Given the description of an element on the screen output the (x, y) to click on. 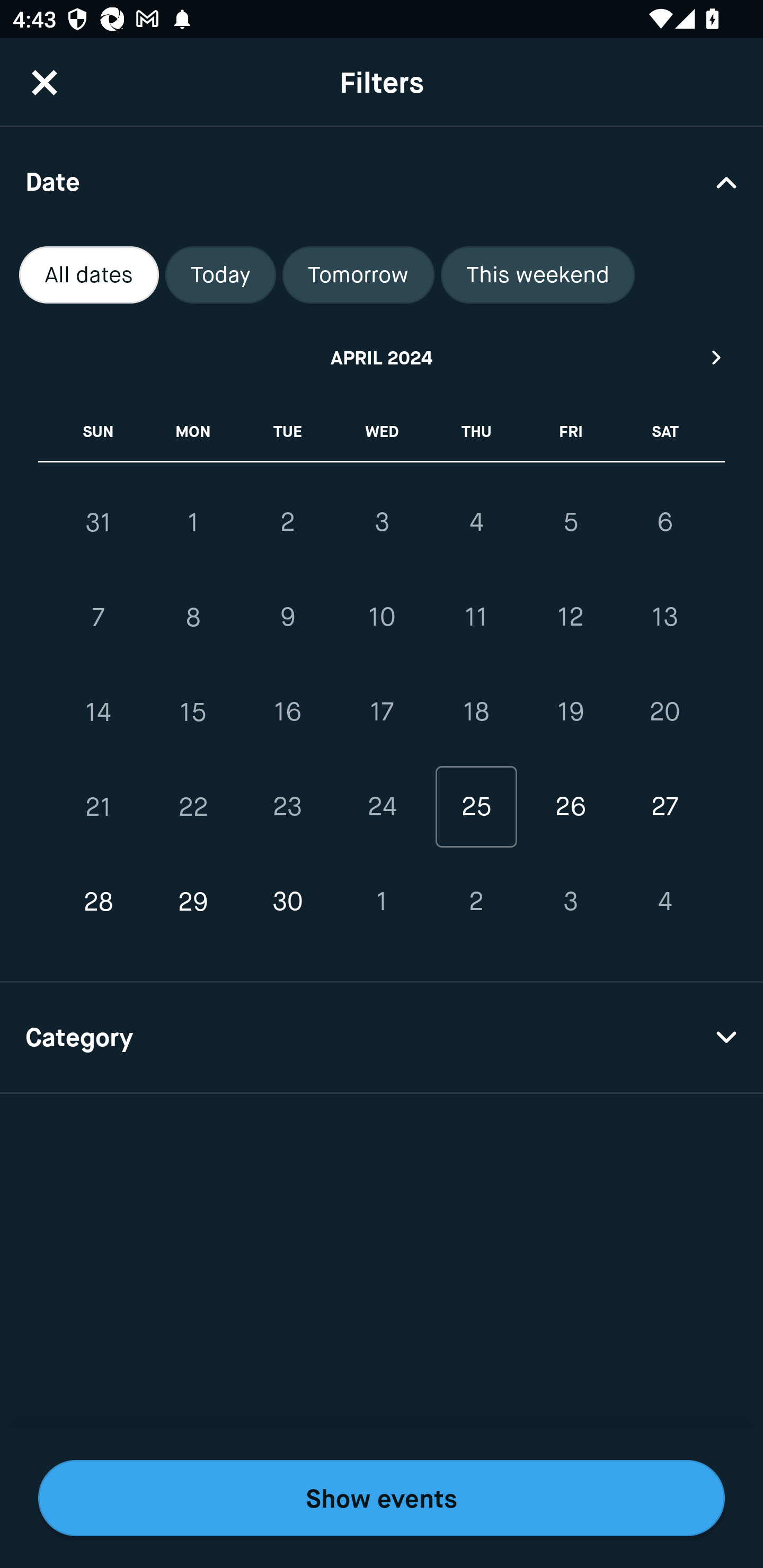
CloseButton (44, 82)
Date Drop Down Arrow (381, 181)
All dates (88, 274)
Today (220, 274)
Tomorrow (358, 274)
This weekend (537, 274)
Next (717, 357)
31 (98, 522)
1 (192, 522)
2 (287, 522)
3 (381, 522)
4 (475, 522)
5 (570, 522)
6 (664, 522)
7 (98, 617)
8 (192, 617)
9 (287, 617)
10 (381, 617)
11 (475, 617)
12 (570, 617)
13 (664, 617)
14 (98, 711)
15 (192, 711)
16 (287, 711)
17 (381, 711)
18 (475, 711)
19 (570, 711)
20 (664, 711)
21 (98, 806)
22 (192, 806)
23 (287, 806)
24 (381, 806)
25 (475, 806)
26 (570, 806)
27 (664, 806)
28 (98, 901)
29 (192, 901)
30 (287, 901)
1 (381, 901)
2 (475, 901)
3 (570, 901)
4 (664, 901)
Category Drop Down Arrow (381, 1038)
Show events (381, 1497)
